Given the description of an element on the screen output the (x, y) to click on. 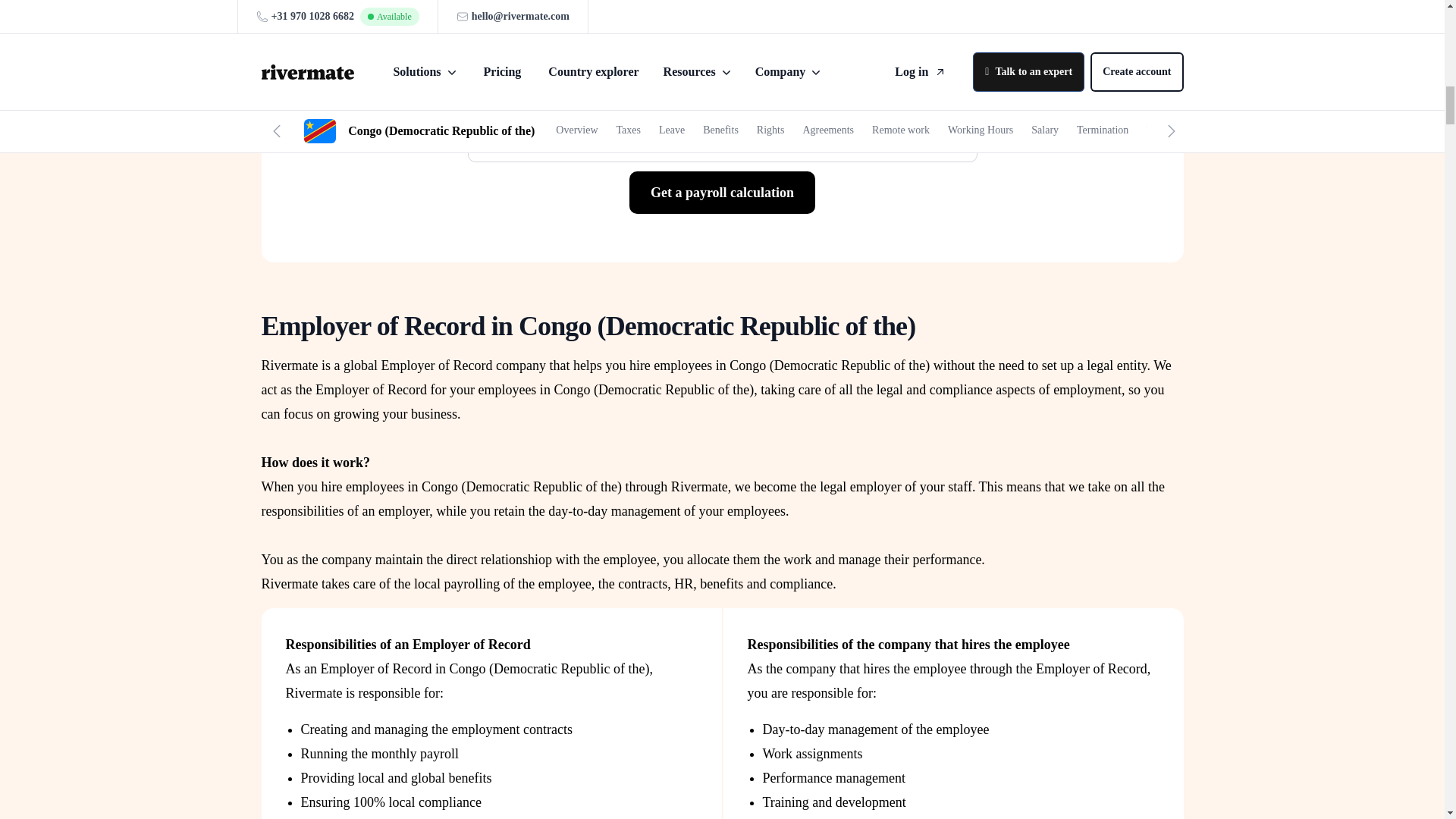
Get a payroll calculation (721, 192)
